Given the description of an element on the screen output the (x, y) to click on. 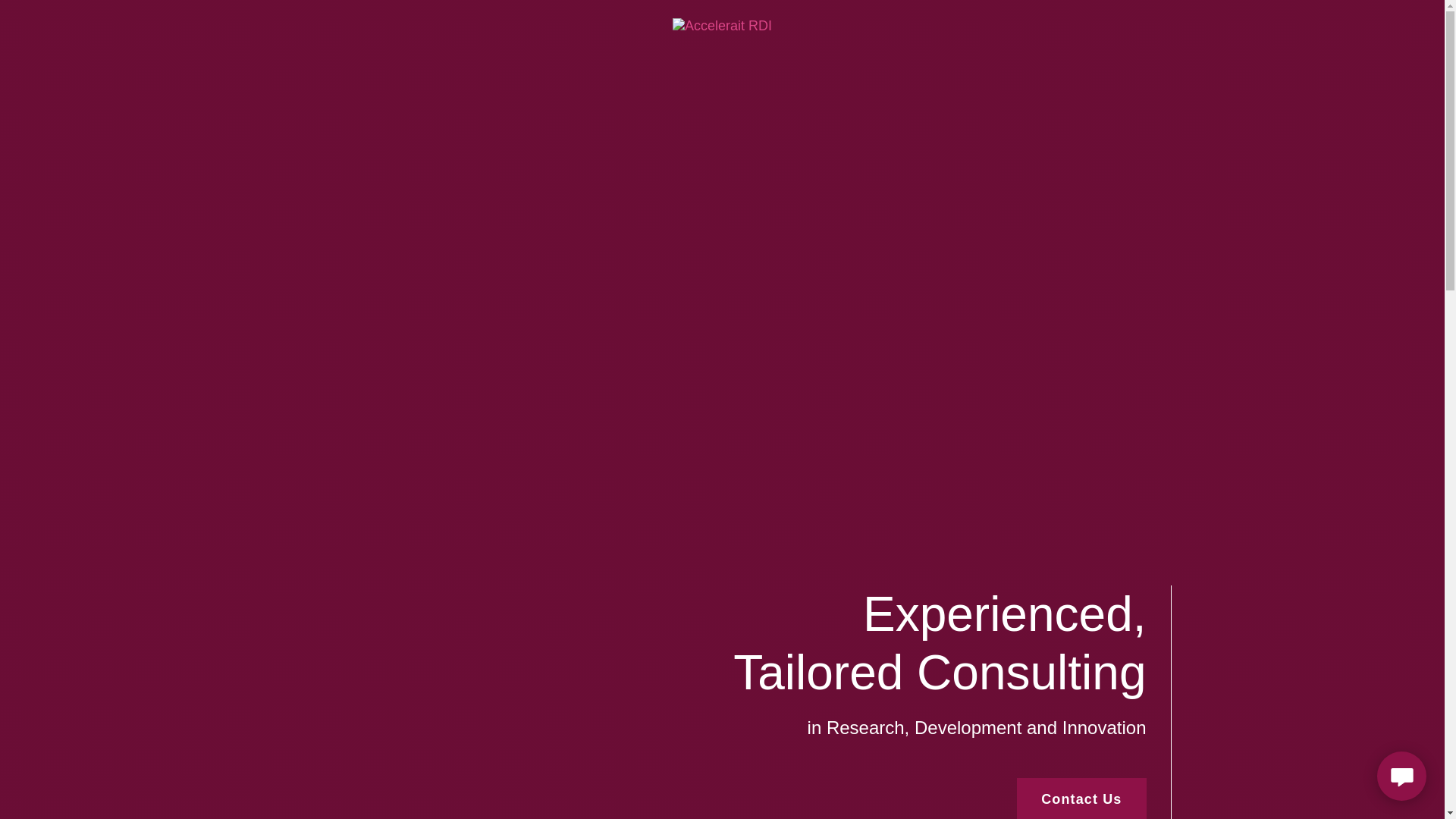
Contact Us (1080, 798)
Accelerait RDI (721, 24)
